Given the description of an element on the screen output the (x, y) to click on. 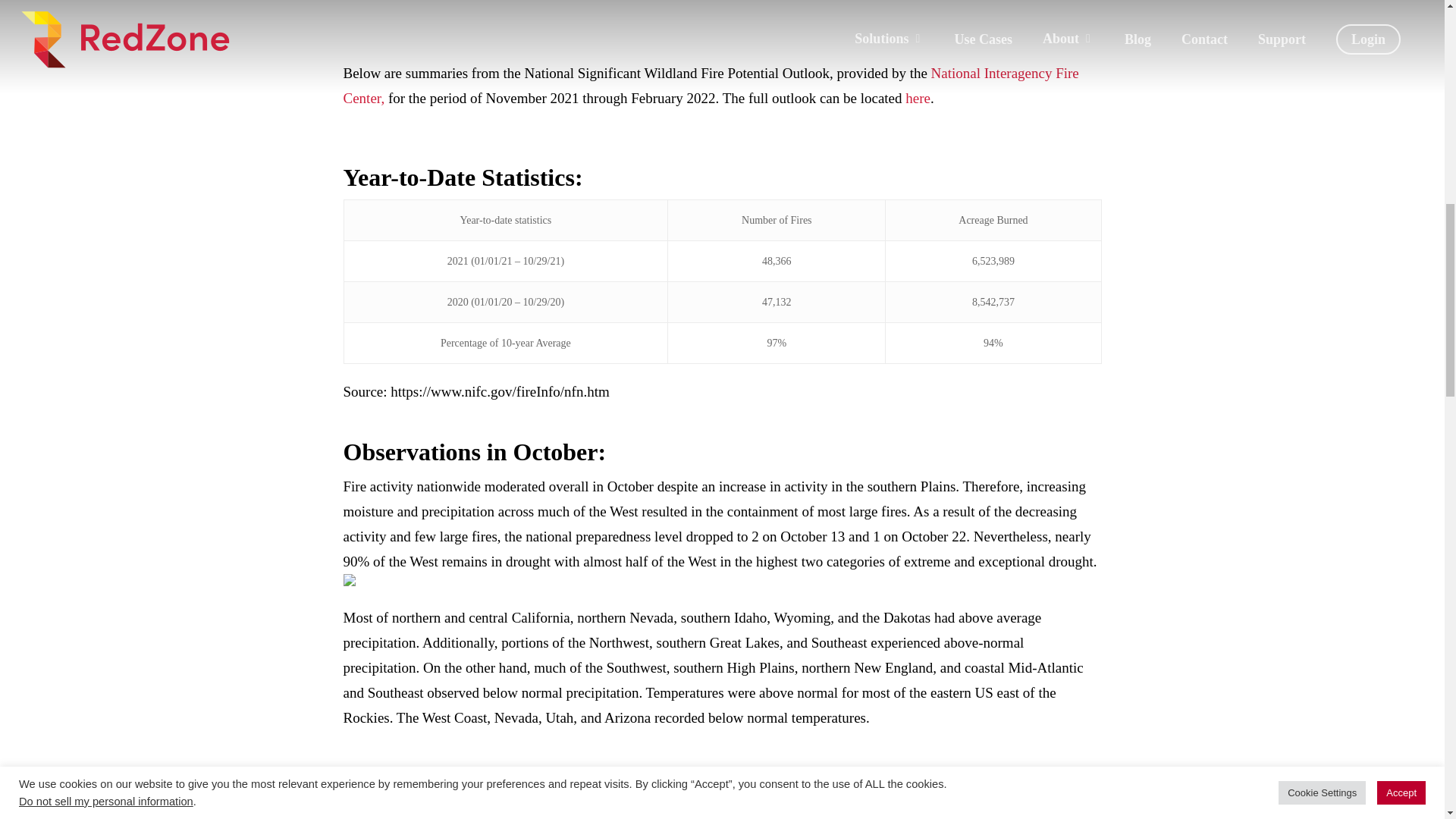
here (917, 98)
National Interagency Fire Center, (710, 85)
